Given the description of an element on the screen output the (x, y) to click on. 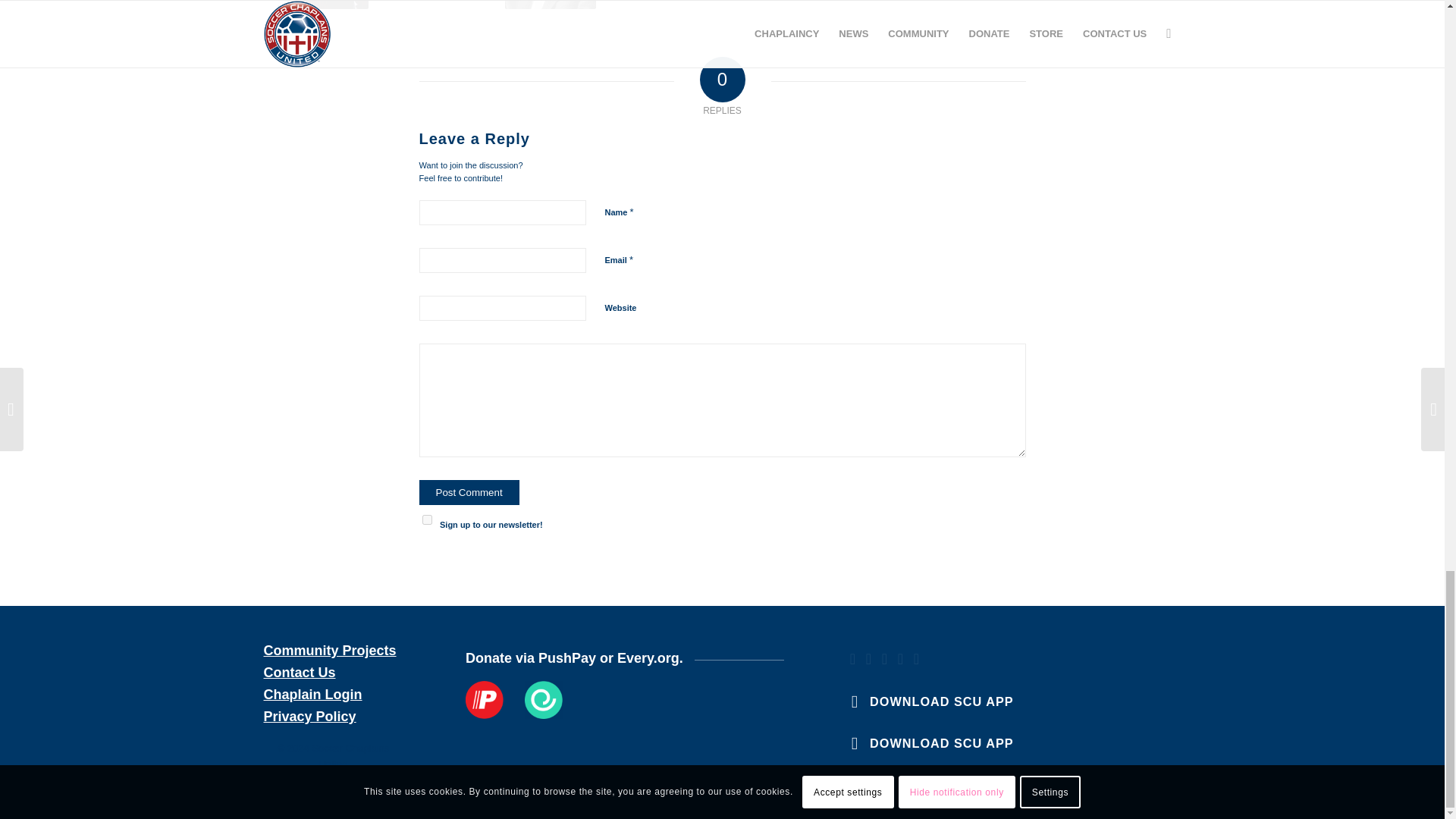
Post Comment (468, 491)
1 (426, 519)
Hyde Becomes First Chaplain with a NISA Club (322, 4)
